Given the description of an element on the screen output the (x, y) to click on. 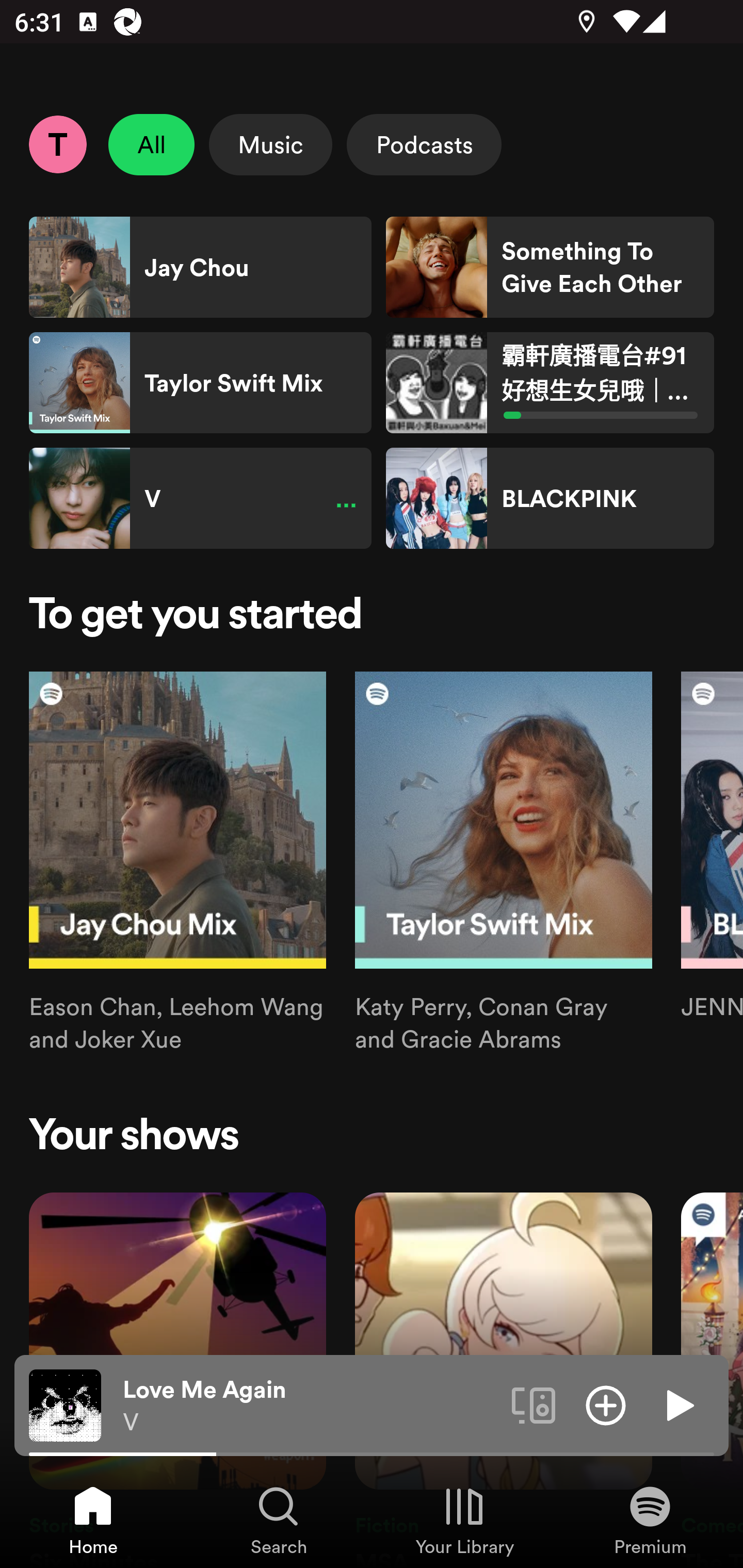
Profile (57, 144)
All Unselect All (151, 144)
Music Select Music (270, 144)
Podcasts Select Podcasts (423, 144)
Jay Chou Shortcut Jay Chou (199, 267)
Taylor Swift Mix Shortcut Taylor Swift Mix (199, 382)
V Shortcut V Paused (199, 498)
BLACKPINK Shortcut BLACKPINK (549, 498)
Love Me Again V (309, 1405)
The cover art of the currently playing track (64, 1404)
Connect to a device. Opens the devices menu (533, 1404)
Add item (605, 1404)
Play (677, 1404)
Home, Tab 1 of 4 Home Home (92, 1519)
Search, Tab 2 of 4 Search Search (278, 1519)
Your Library, Tab 3 of 4 Your Library Your Library (464, 1519)
Premium, Tab 4 of 4 Premium Premium (650, 1519)
